Given the description of an element on the screen output the (x, y) to click on. 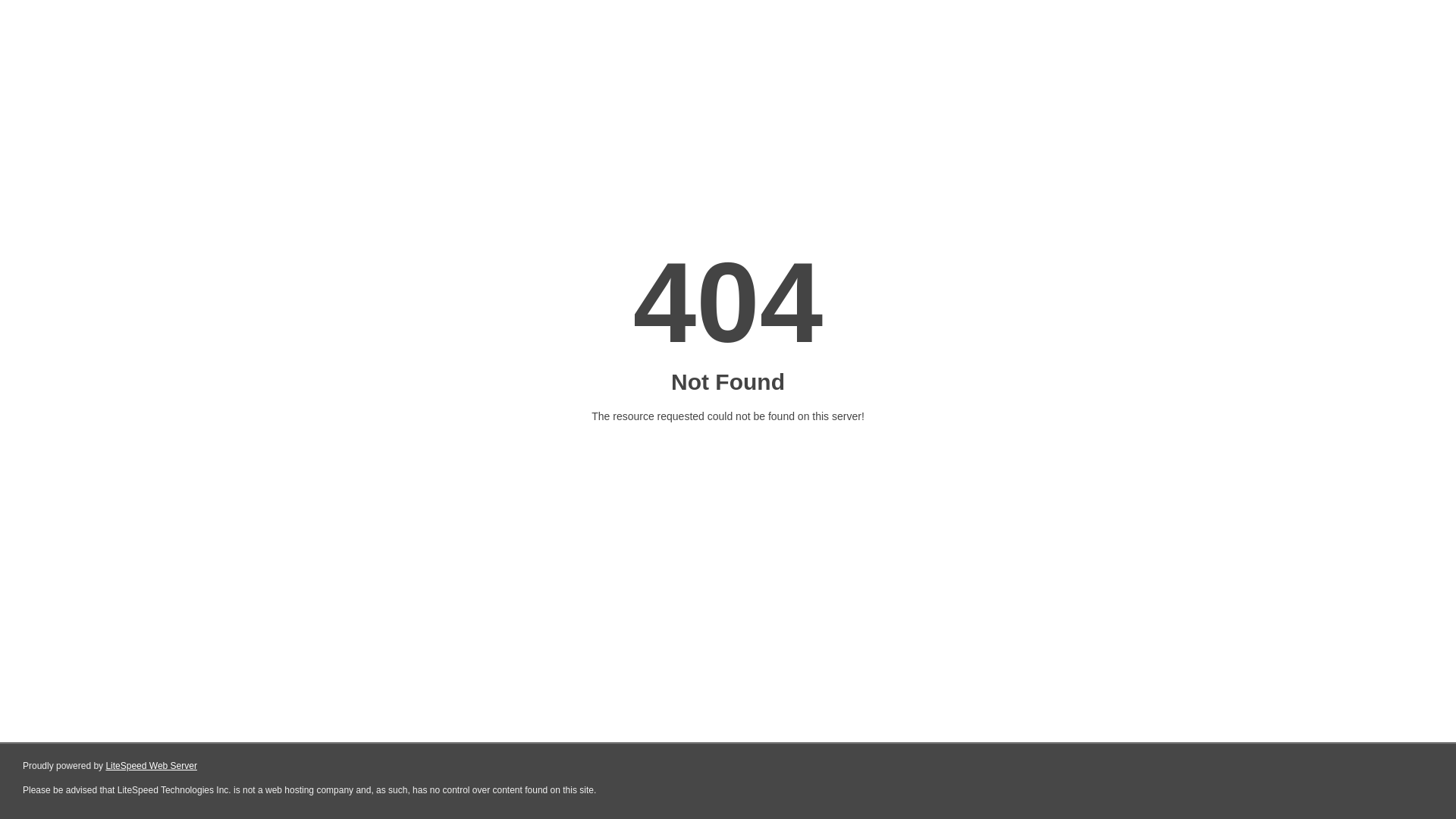
LiteSpeed Web Server Element type: text (151, 765)
